Given the description of an element on the screen output the (x, y) to click on. 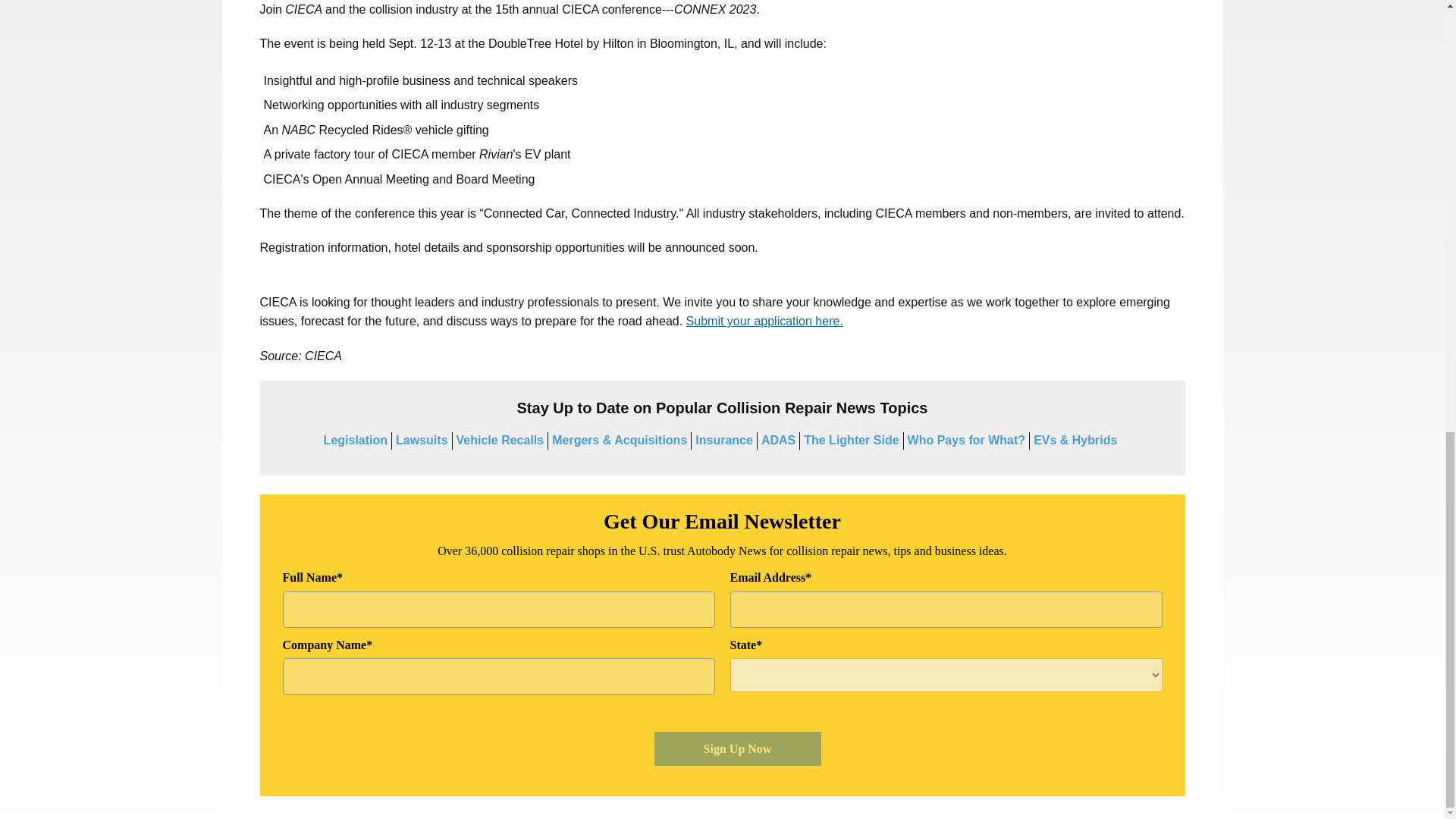
Insurance (723, 440)
Vehicle Recalls (500, 440)
Who Pays for What? (966, 440)
The Lighter Side (850, 440)
Legislation (355, 440)
Lawsuits (421, 440)
ADAS (777, 440)
